Given the description of an element on the screen output the (x, y) to click on. 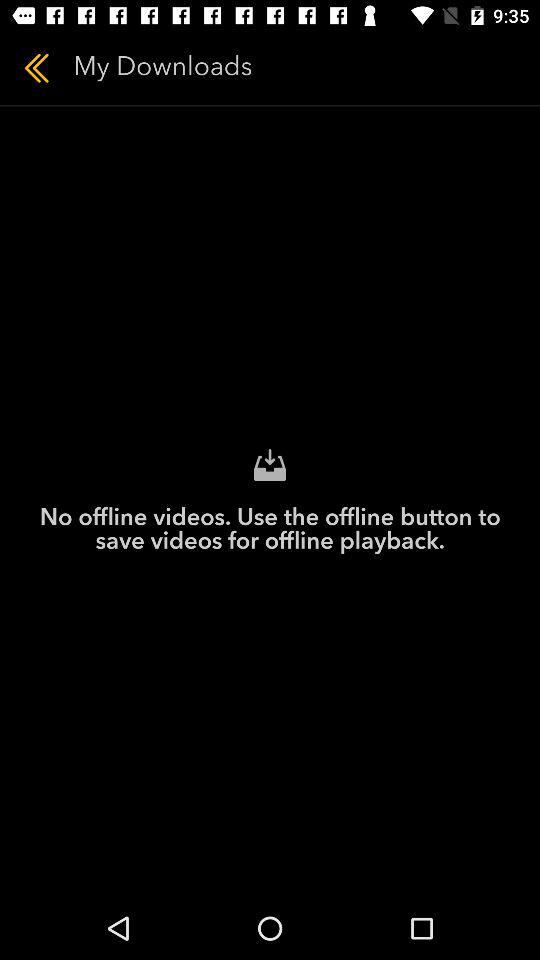
launch item next to my downloads icon (36, 68)
